Given the description of an element on the screen output the (x, y) to click on. 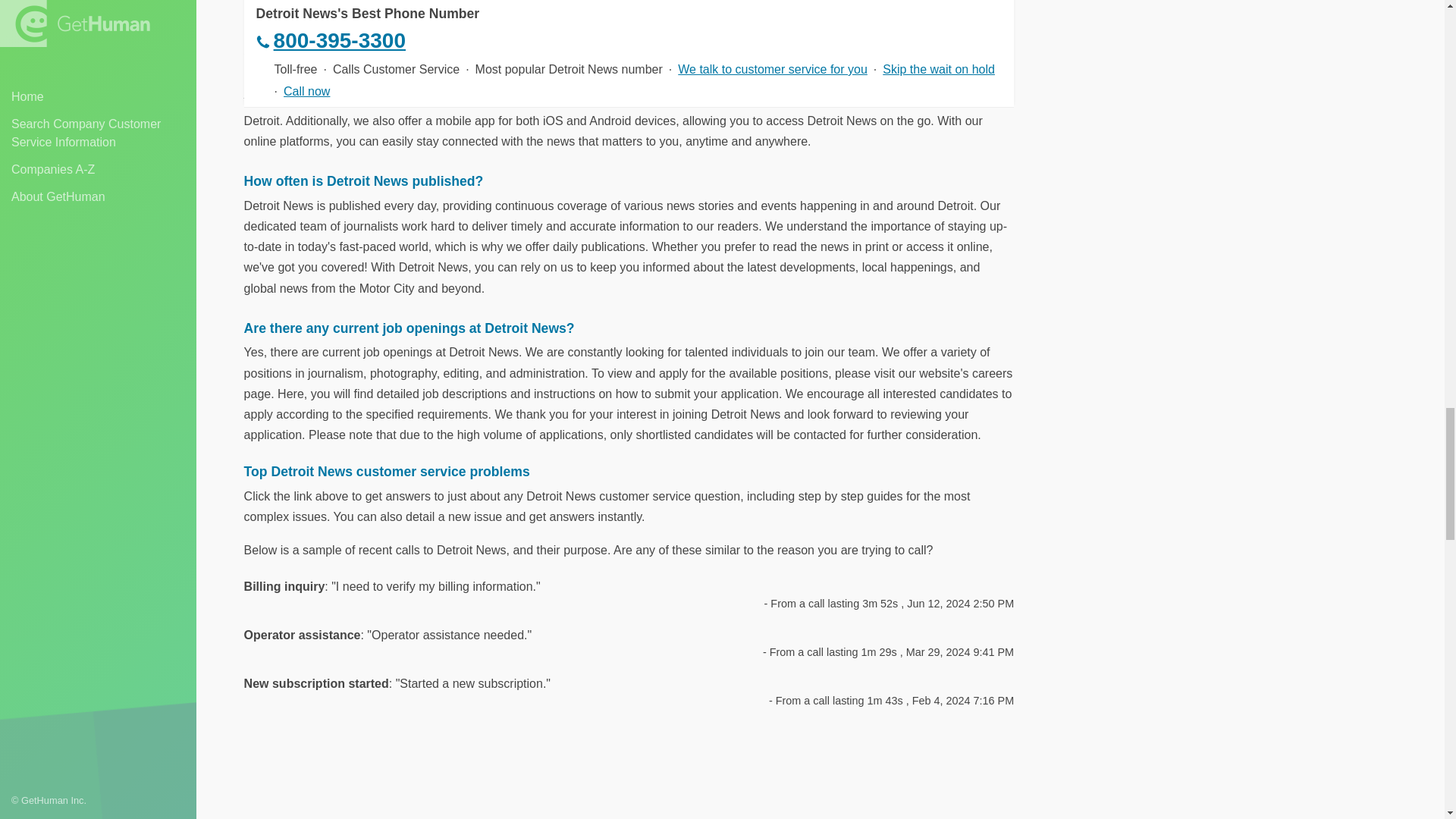
Are there any current job openings at Detroit News? (629, 328)
Can I access Detroit News online? (629, 34)
How often is Detroit News published? (629, 180)
Advertisement (629, 775)
Top Detroit News customer service problems (629, 471)
